Given the description of an element on the screen output the (x, y) to click on. 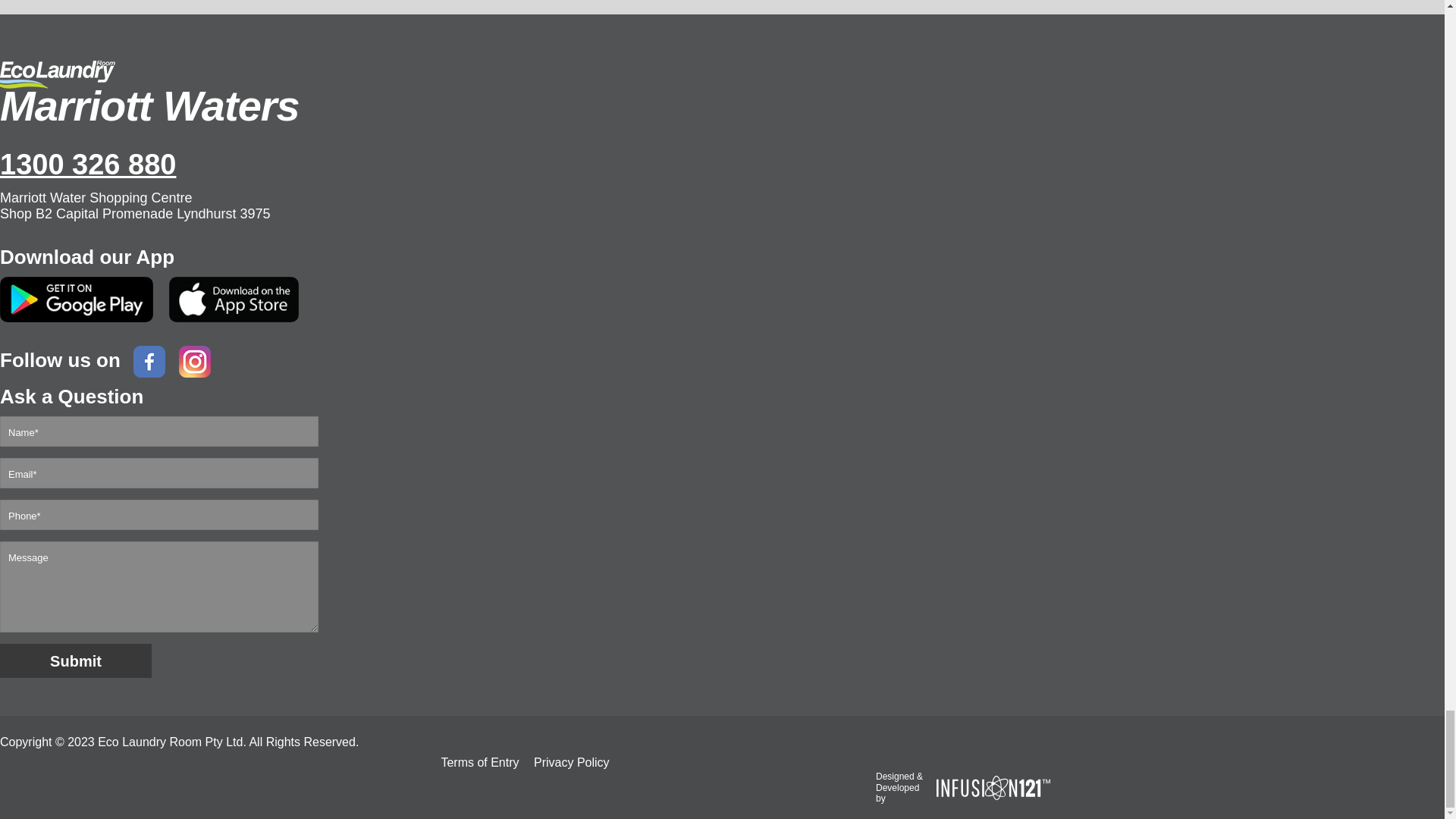
1300 326 880 (530, 164)
Privacy Policy (572, 762)
Terms of Entry (479, 762)
Submit (75, 660)
Submit (75, 660)
